Given the description of an element on the screen output the (x, y) to click on. 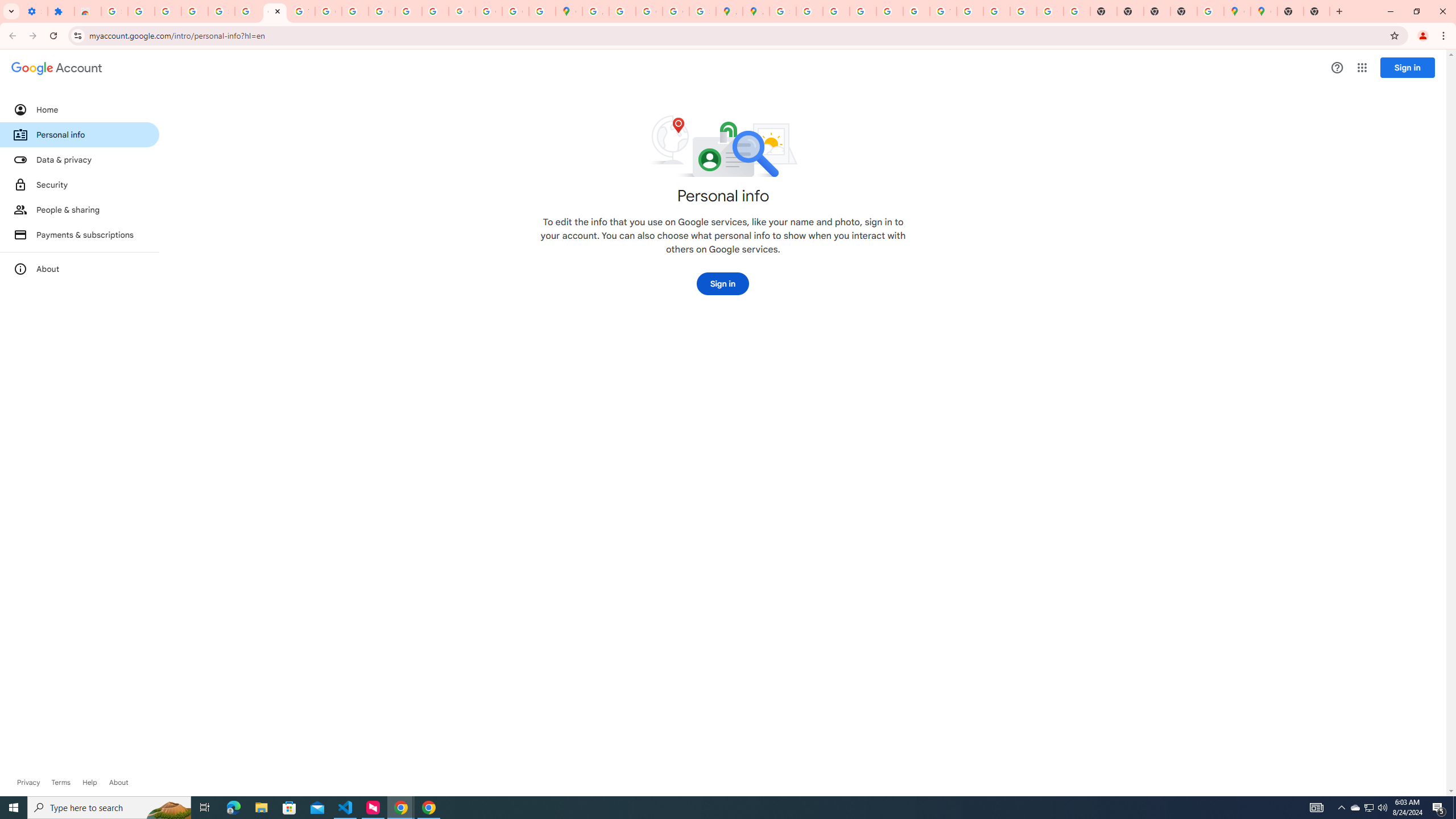
New Tab (1290, 11)
Google Account settings (56, 68)
YouTube (301, 11)
Personal info (79, 134)
Security (79, 184)
